Given the description of an element on the screen output the (x, y) to click on. 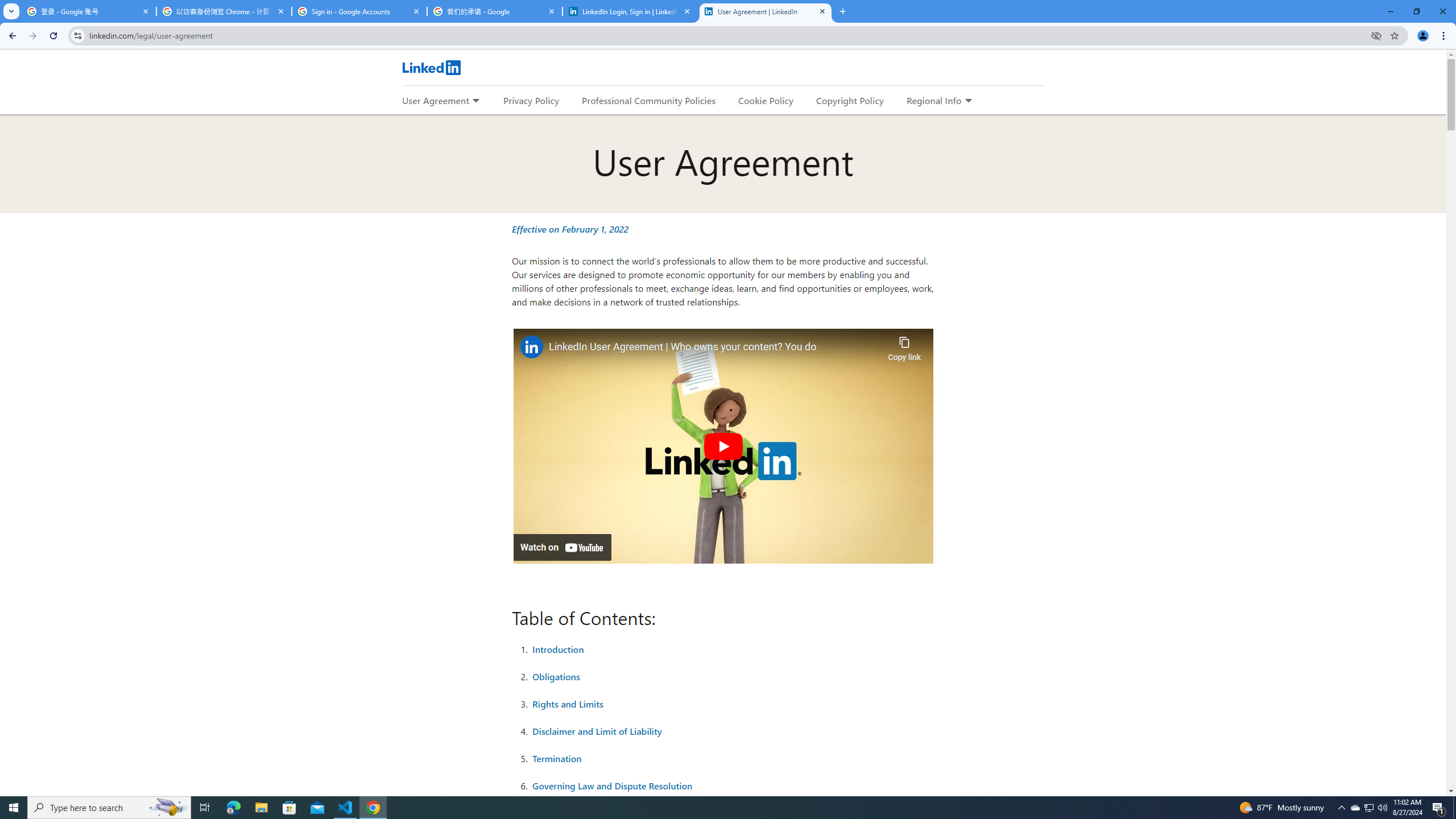
LinkedIn Login, Sign in | LinkedIn (630, 11)
Professional Community Policies (649, 100)
Expand to show more links for User Agreement (475, 101)
Cookie Policy (765, 100)
User Agreement (434, 100)
Rights and Limits (567, 703)
Expand to show more links for Regional Info (967, 101)
